Given the description of an element on the screen output the (x, y) to click on. 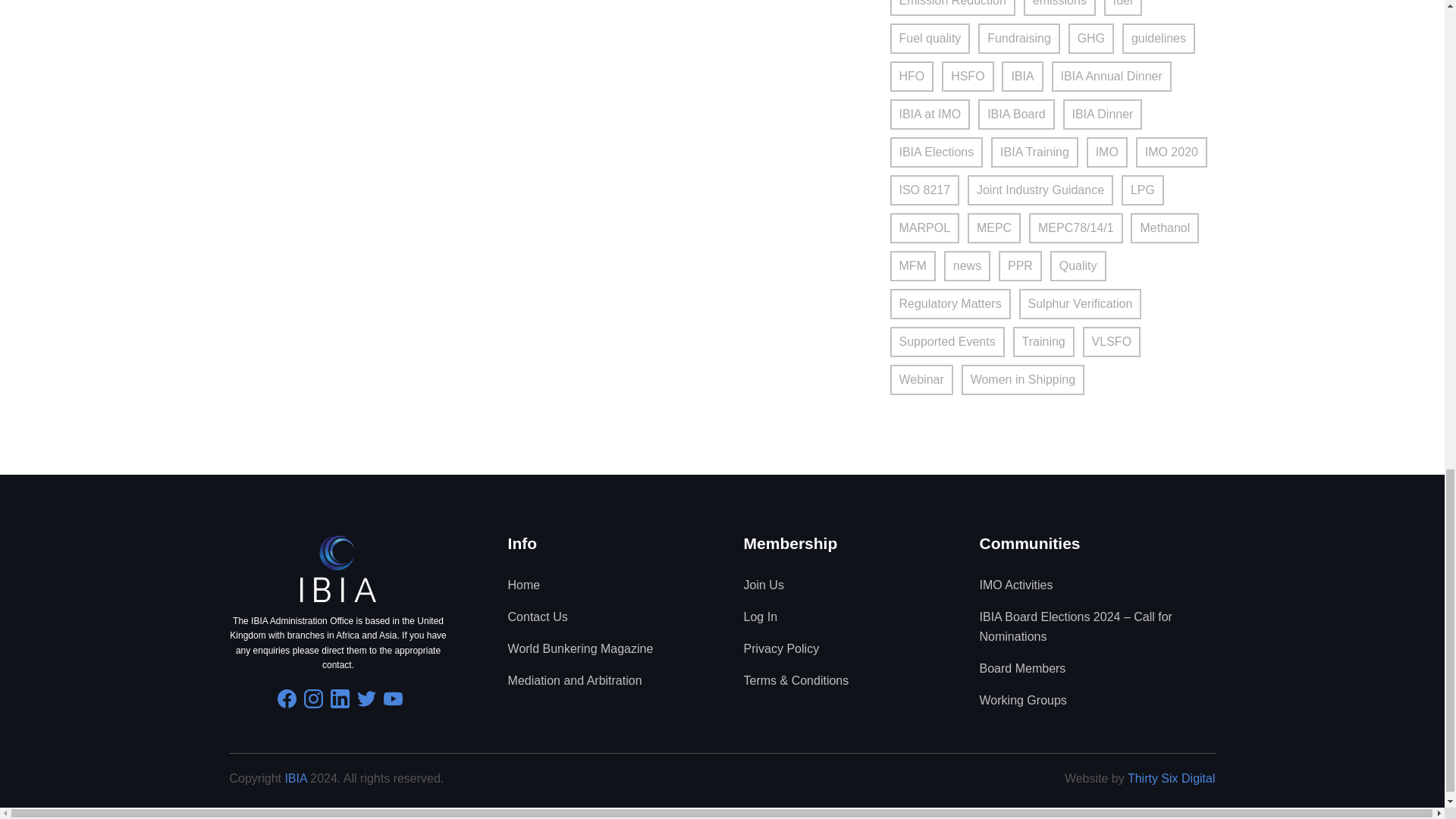
youtube (393, 698)
instagram (313, 698)
facebook (287, 698)
linkedin (339, 698)
twitter (365, 698)
